Given the description of an element on the screen output the (x, y) to click on. 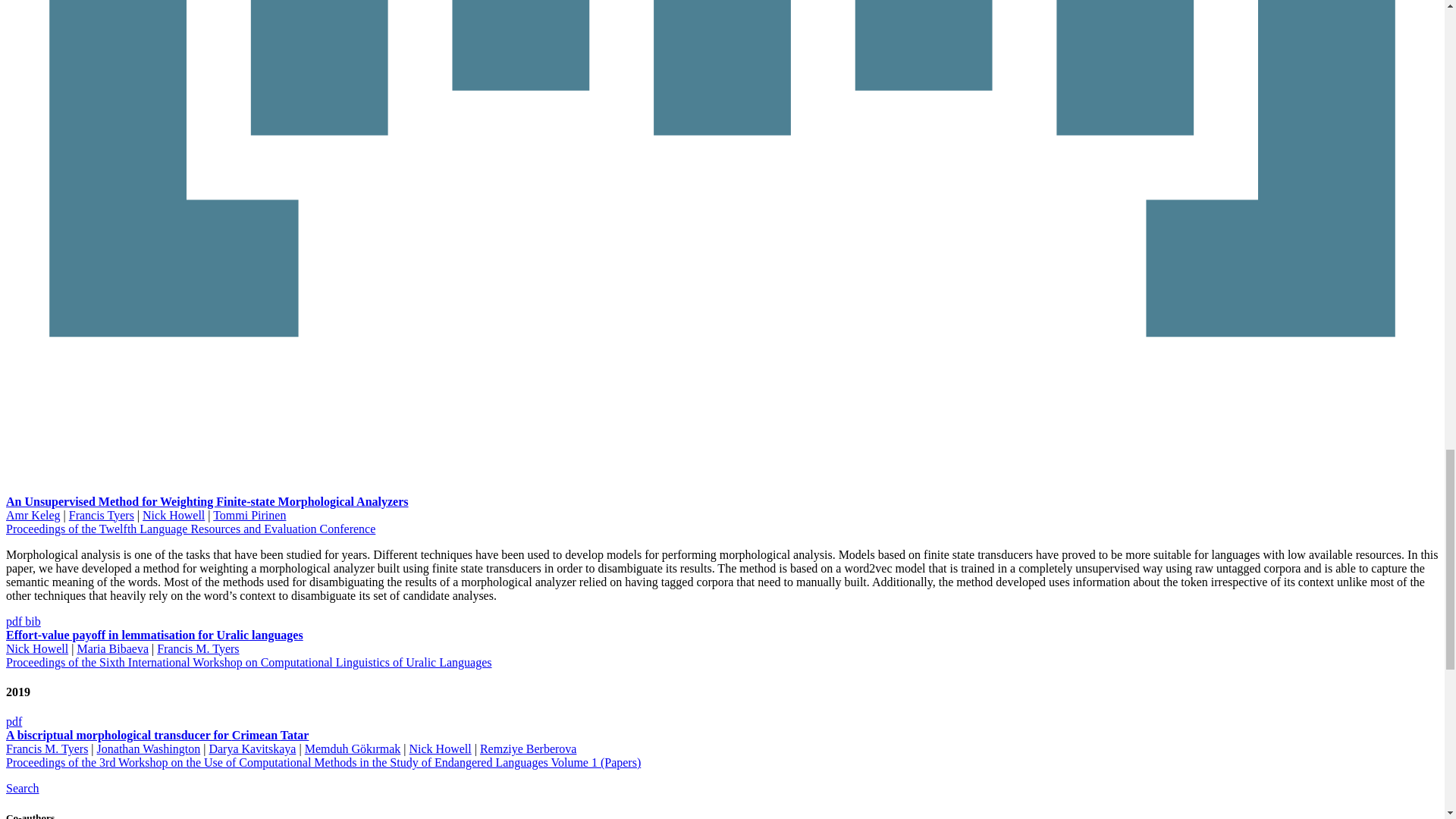
Tommi Pirinen (248, 514)
Open PDF (14, 621)
Nick Howell (173, 514)
pdf (14, 621)
Search for 'Nick Howell' on Semantic Scholar (22, 788)
Amr Keleg (33, 514)
Open PDF (13, 721)
Export to BibTeX (32, 621)
Francis Tyers (100, 514)
